Given the description of an element on the screen output the (x, y) to click on. 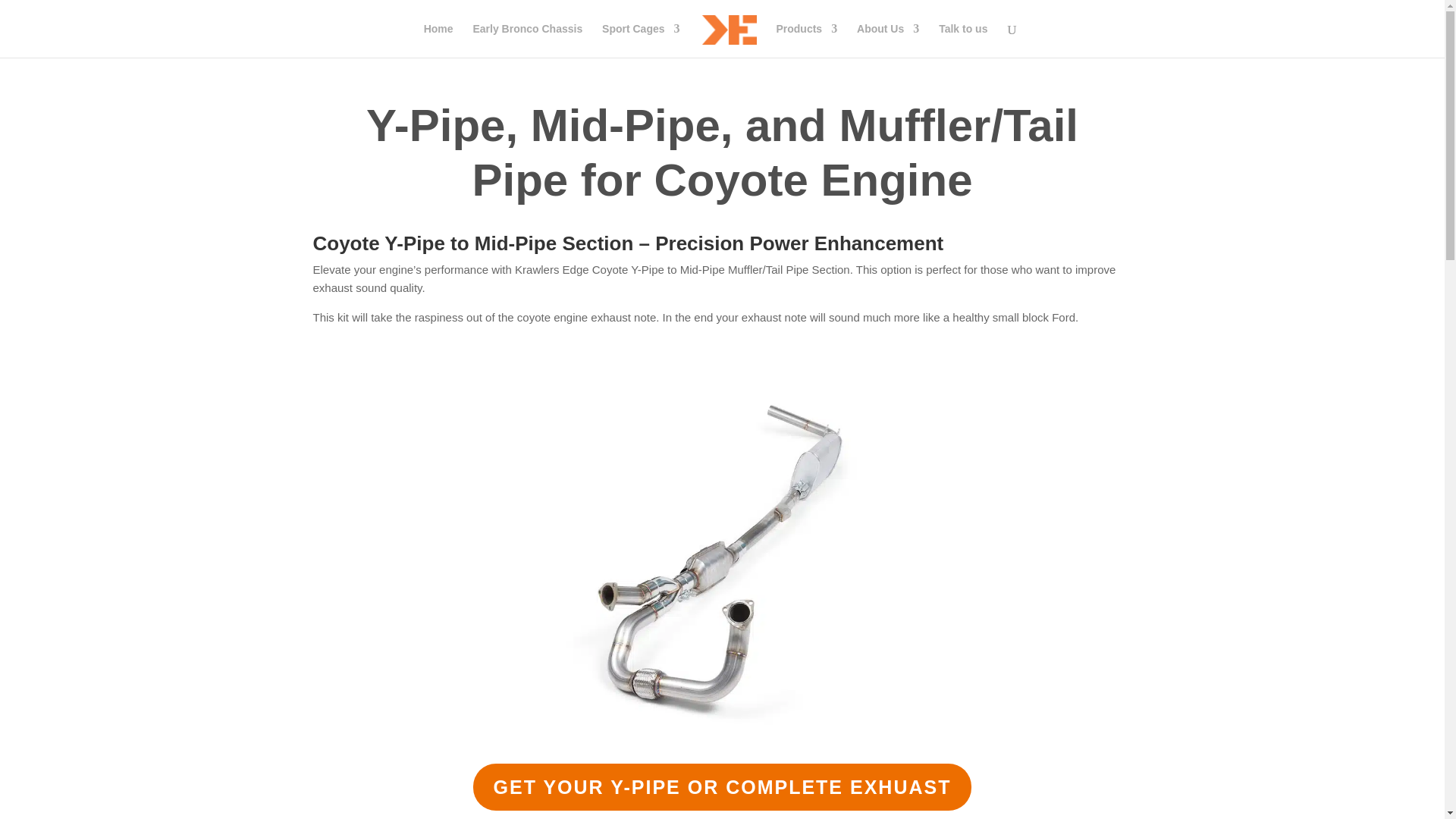
Products (806, 40)
Early Bronco Chassis (526, 40)
Talk to us (963, 40)
About Us (887, 40)
Coyote-Exhaust-with-Y-Pipe-to-Mid-Pipe-for-Vintage-Broncos (722, 742)
Sport Cages (640, 40)
